Given the description of an element on the screen output the (x, y) to click on. 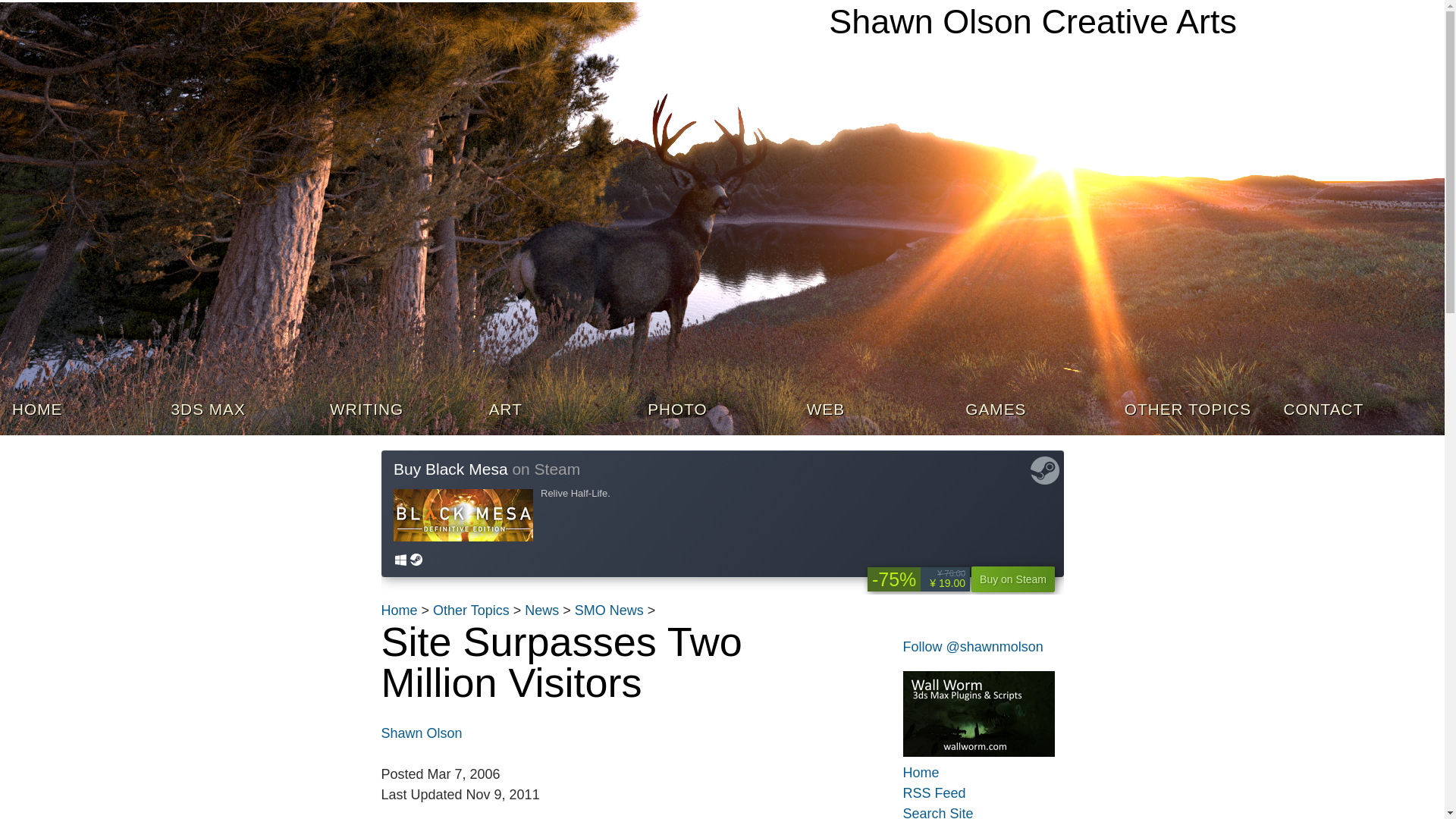
News (541, 610)
HOME (79, 411)
Shawn Olson (420, 733)
3DS MAX (238, 411)
Home (971, 772)
WRITING (397, 411)
Home (398, 610)
Search Site (971, 811)
Other Topics (470, 610)
SMO News (609, 610)
RSS Feed (971, 792)
